Given the description of an element on the screen output the (x, y) to click on. 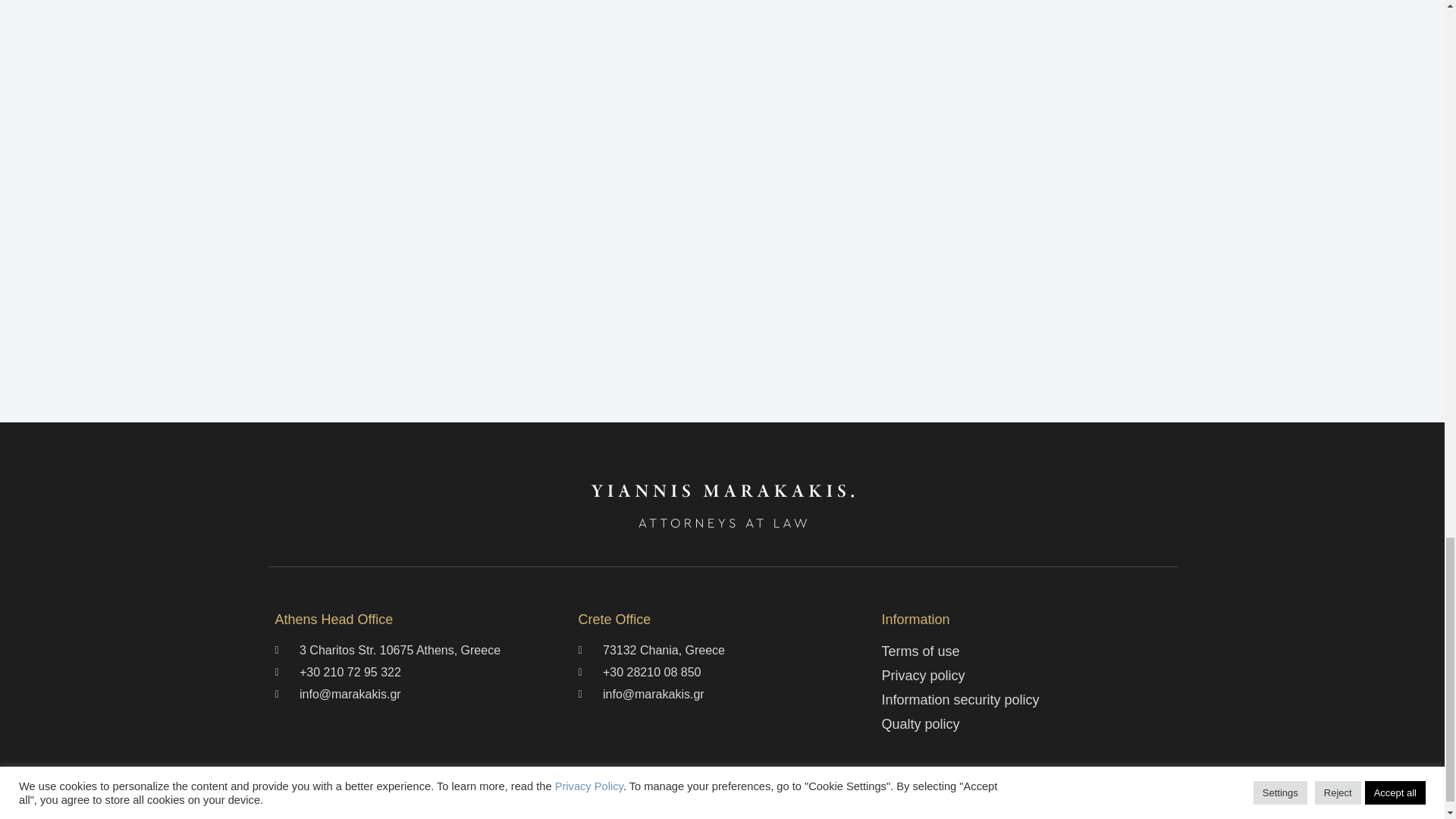
Qualty policy (1024, 724)
Privacy policy (1024, 675)
3 Charitos Str. 10675 Athens, Greece (418, 650)
Information security policy (1024, 700)
Terms of use (1024, 651)
Etherlogic P.C. (839, 808)
